Given the description of an element on the screen output the (x, y) to click on. 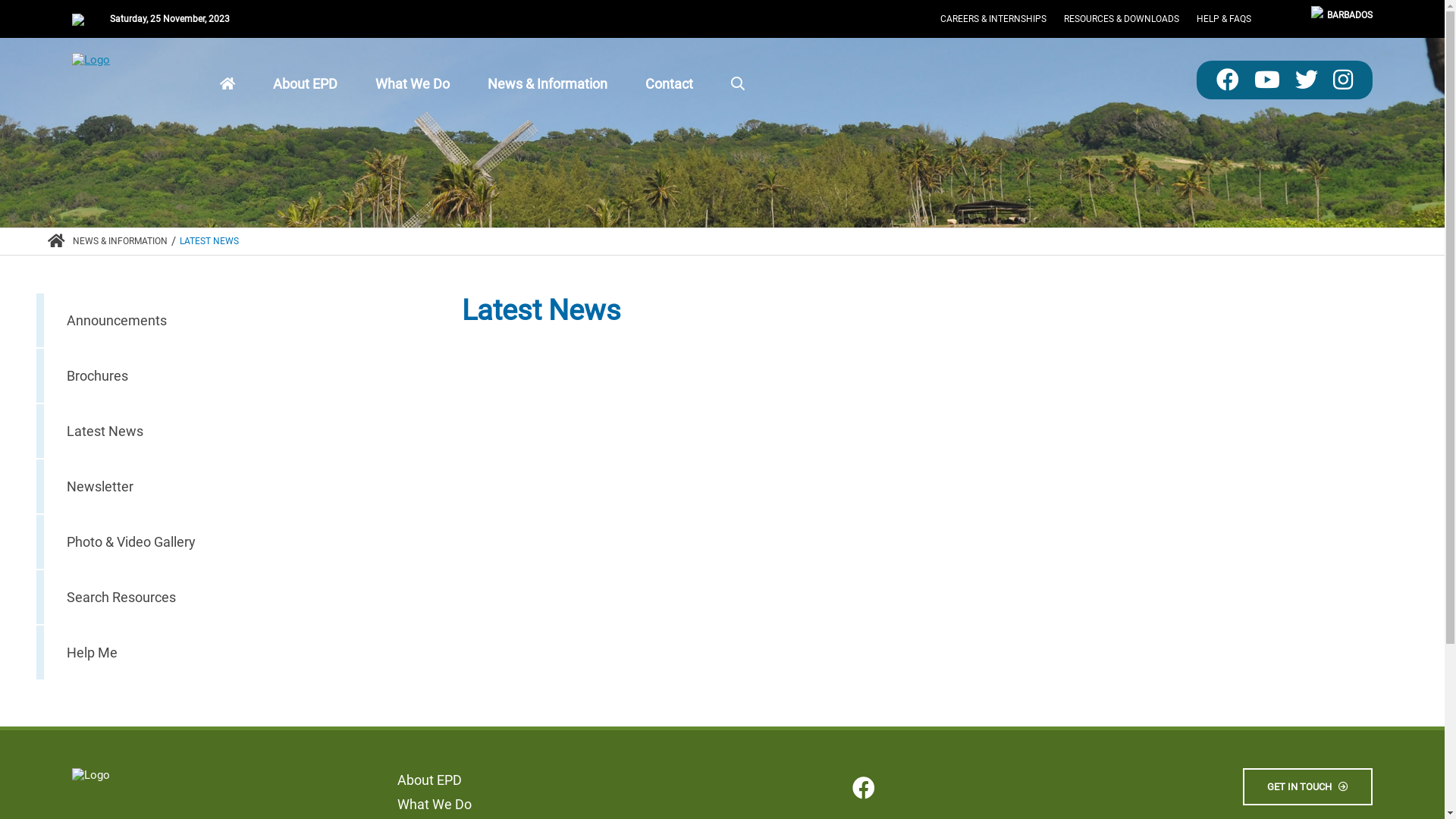
About EPD Element type: text (429, 779)
Announcements Element type: text (218, 320)
About EPD Element type: text (304, 83)
CAREERS & INTERNSHIPS Element type: text (993, 18)
Newsletter Element type: text (218, 486)
LATEST NEWS Element type: text (208, 241)
RESOURCES & DOWNLOADS Element type: text (1121, 18)
Photo & Video Gallery Element type: text (218, 541)
Latest News Element type: text (218, 431)
News & Information Element type: text (547, 83)
GET IN TOUCH   Element type: text (1307, 786)
Help Me Element type: text (218, 652)
HELP & FAQS Element type: text (1223, 18)
NEWS & INFORMATION Element type: text (120, 241)
What We Do Element type: text (434, 804)
Brochures Element type: text (218, 375)
What We Do Element type: text (412, 83)
Contact Element type: text (669, 83)
Search Resources Element type: text (218, 597)
